Given the description of an element on the screen output the (x, y) to click on. 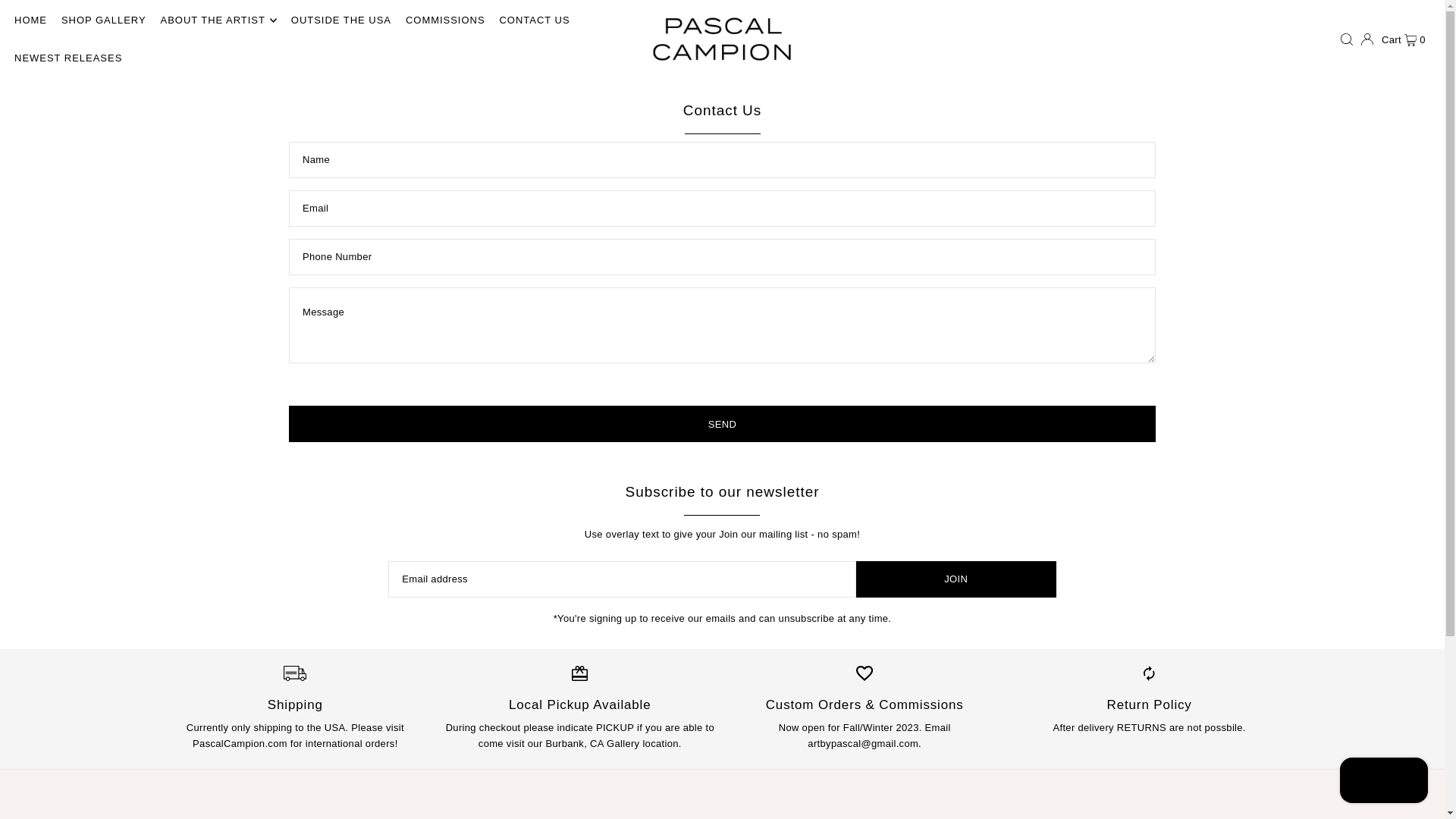
Cart (1403, 39)
COMMISSIONS (445, 20)
NEWEST RELEASES (68, 57)
CONTACT US (534, 20)
OUTSIDE THE USA (341, 20)
Send (722, 423)
JOIN (956, 579)
ABOUT THE ARTIST (218, 20)
SHOP GALLERY (104, 20)
Send (722, 423)
